Given the description of an element on the screen output the (x, y) to click on. 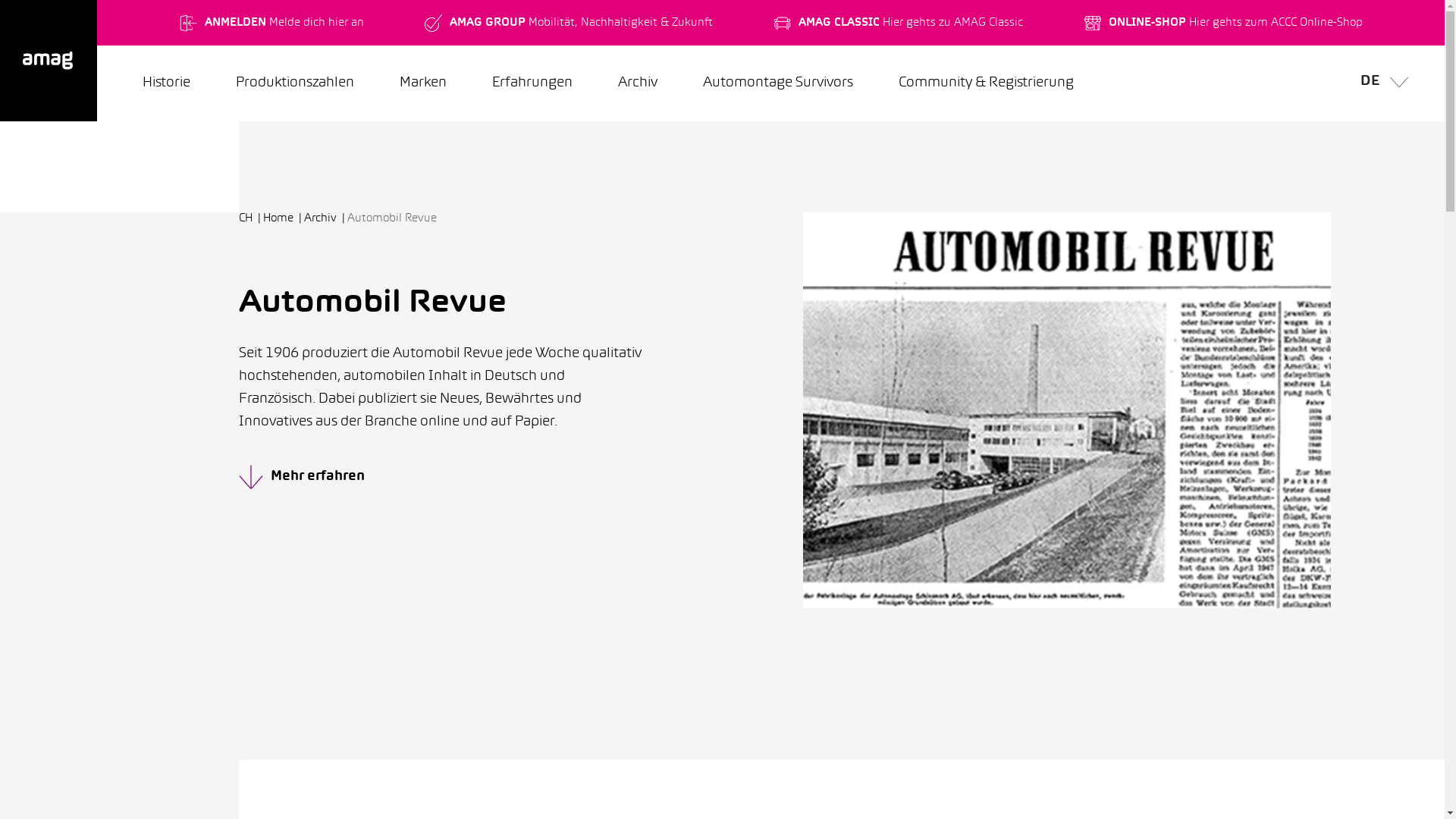
Automontage Survivors Element type: text (777, 83)
AMAG CLASSIC Hier gehts zu AMAG Classic Element type: text (897, 22)
Home Element type: text (283, 218)
. Element type: hover (48, 60)
Erfahrungen Element type: text (532, 83)
Archiv Element type: text (325, 218)
ANMELDEN Melde dich hier an Element type: text (270, 22)
Community & Registrierung Element type: text (985, 83)
ONLINE-SHOP Hier gehts zum ACCC Online-Shop Element type: text (1221, 22)
CH Element type: text (250, 218)
DE Element type: text (1380, 83)
Historie Element type: text (166, 83)
Produktionszahlen Element type: text (294, 83)
Archiv Element type: text (637, 83)
Marken Element type: text (422, 83)
Mehr erfahren Element type: text (480, 476)
